Given the description of an element on the screen output the (x, y) to click on. 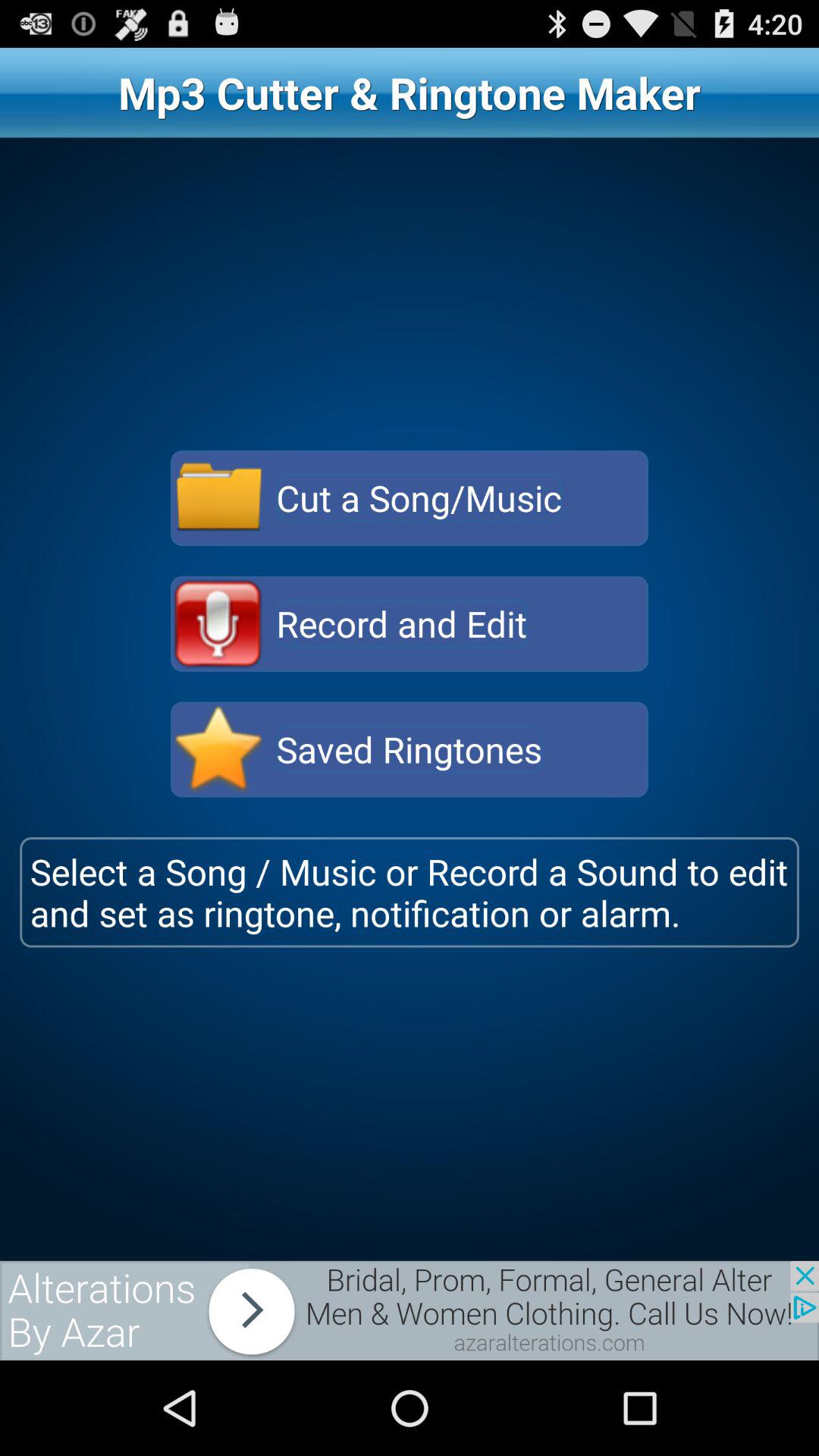
advertisement banner (409, 1310)
